Given the description of an element on the screen output the (x, y) to click on. 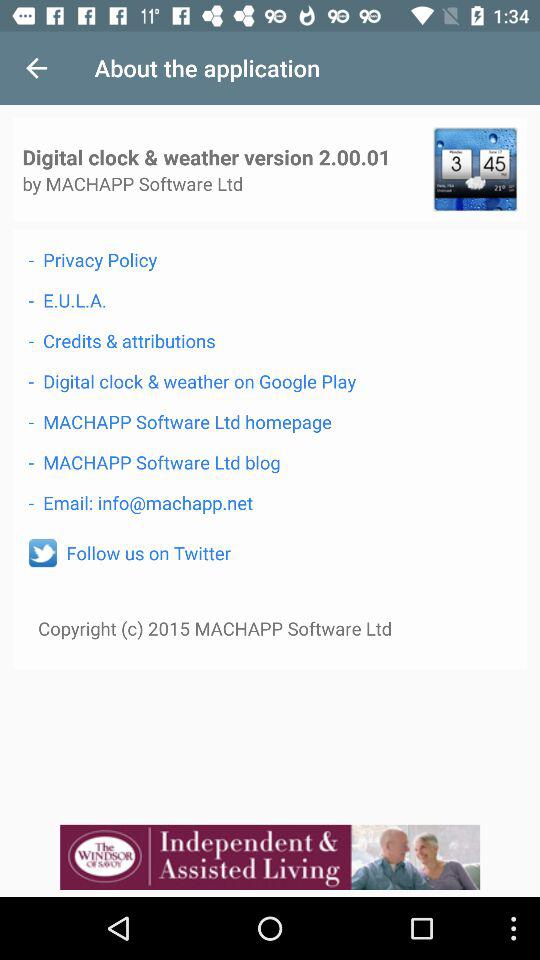
see clock (475, 169)
